Given the description of an element on the screen output the (x, y) to click on. 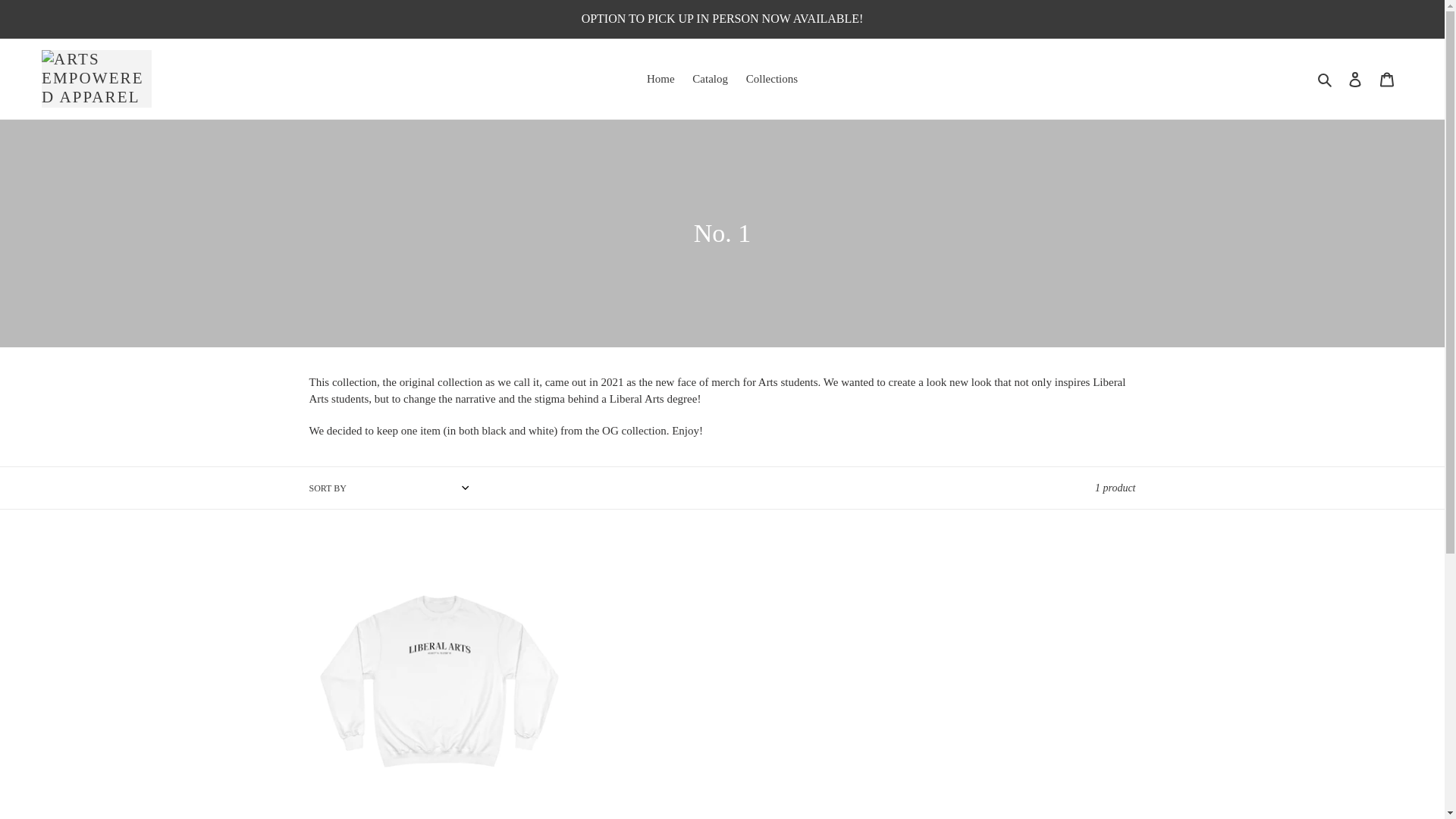
Cart Element type: text (1386, 78)
Log in Element type: text (1355, 78)
Search Element type: text (1325, 78)
Home Element type: text (660, 79)
Catalog Element type: text (709, 79)
Collections Element type: text (771, 79)
